Given the description of an element on the screen output the (x, y) to click on. 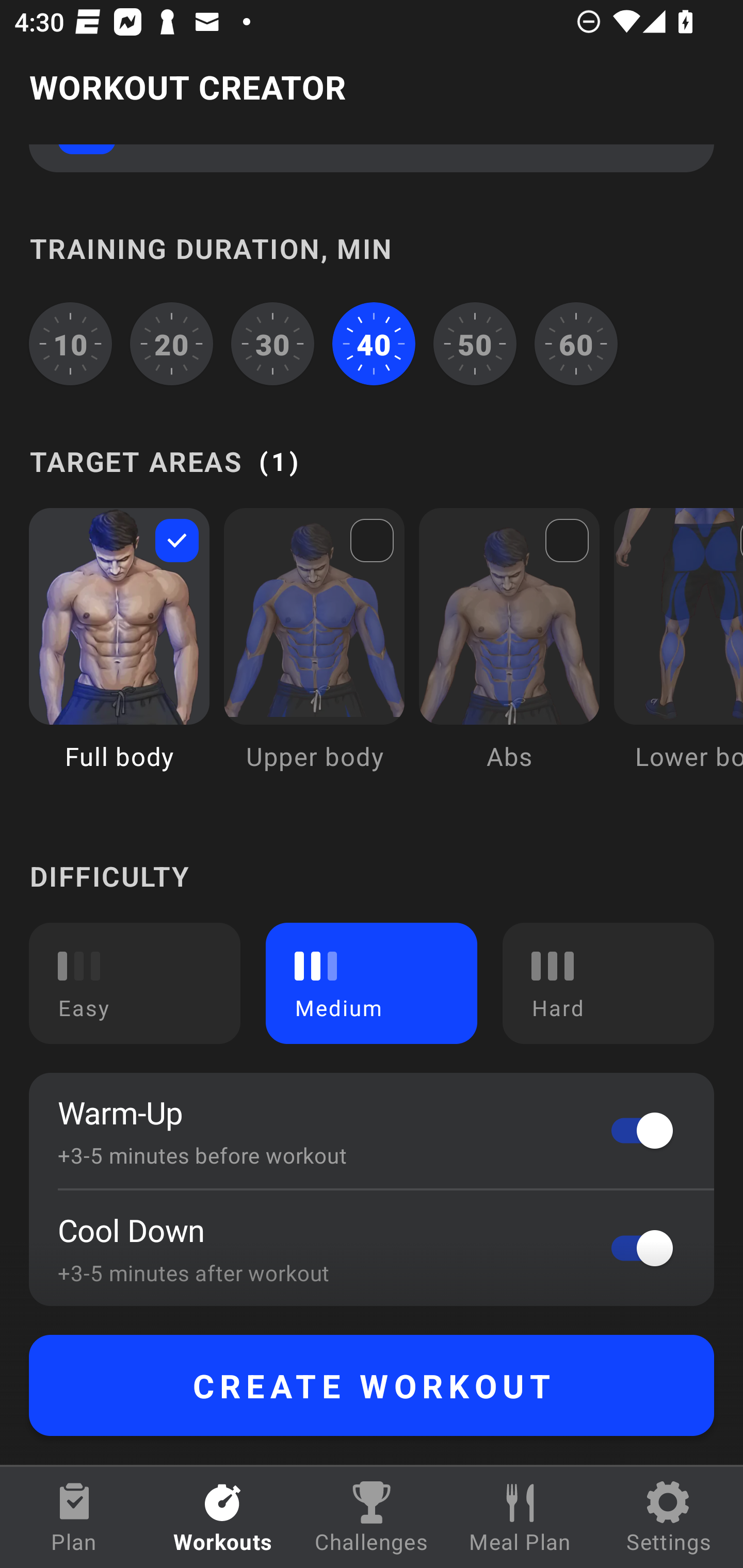
10 (70, 344)
20 (171, 344)
30 (272, 344)
40 (373, 344)
50 (474, 344)
60 (575, 344)
Upper body (313, 653)
Abs (509, 653)
Lower body (678, 653)
Easy (134, 982)
Hard (608, 982)
CREATE WORKOUT (371, 1385)
 Plan  (74, 1517)
 Challenges  (371, 1517)
 Meal Plan  (519, 1517)
 Settings  (668, 1517)
